Given the description of an element on the screen output the (x, y) to click on. 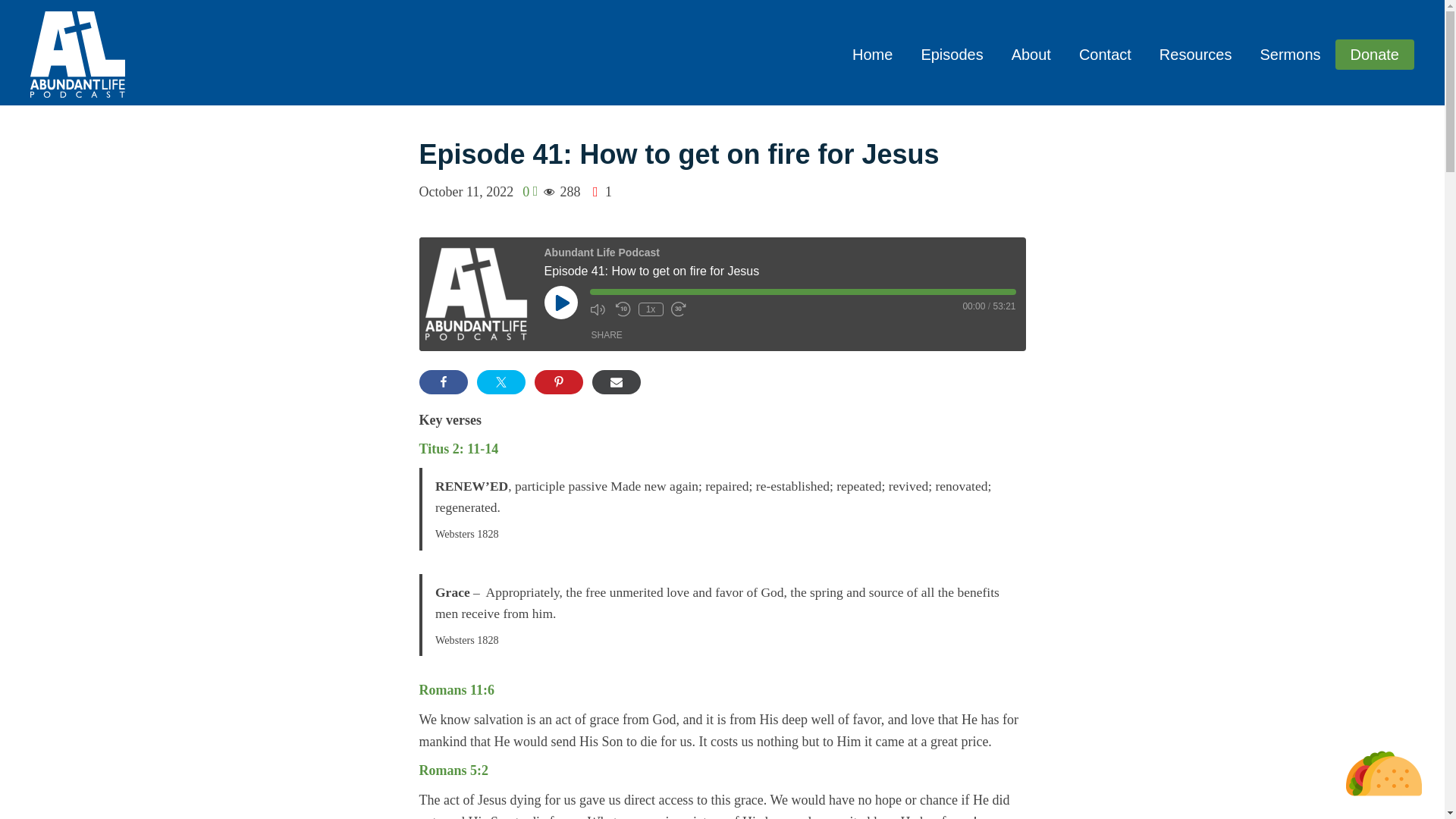
Episodes (951, 54)
About (1030, 54)
Seek (802, 291)
SHARE (606, 335)
Donate (1374, 54)
Rewind 10 seconds (622, 309)
0 (529, 191)
1x (651, 309)
Romans 5:2 (453, 770)
Rewind 10 Seconds (622, 309)
